Given the description of an element on the screen output the (x, y) to click on. 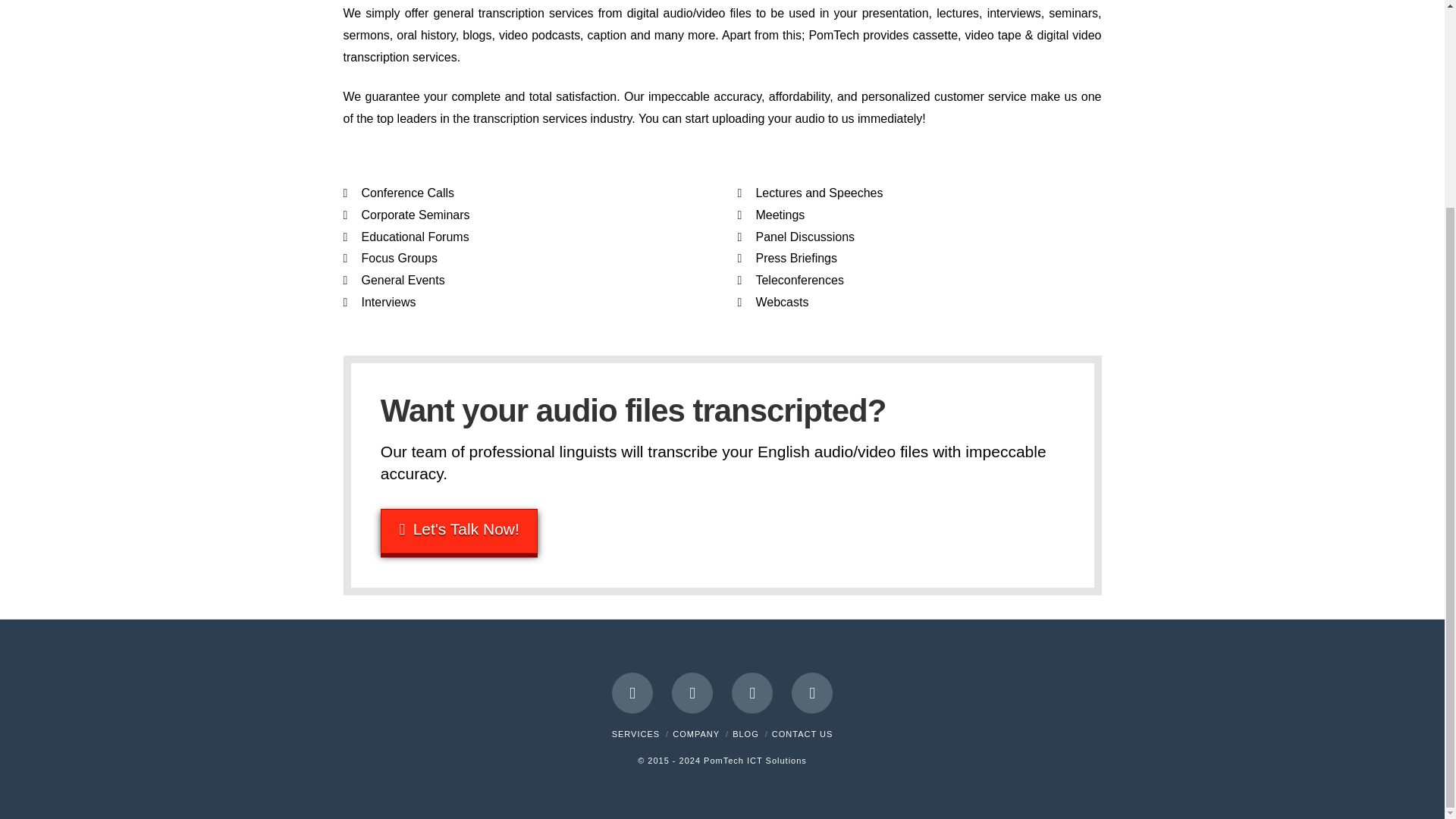
YouTube (812, 692)
BLOG (745, 733)
PomTech ICT Solutions (754, 759)
Let's Talk Now! (459, 530)
Facebook (631, 692)
SERVICES (635, 733)
COMPANY (695, 733)
PomTech ICT Solutions (754, 759)
Let's Talk Now! (459, 530)
CONTACT US (801, 733)
LinkedIn (752, 692)
